Given the description of an element on the screen output the (x, y) to click on. 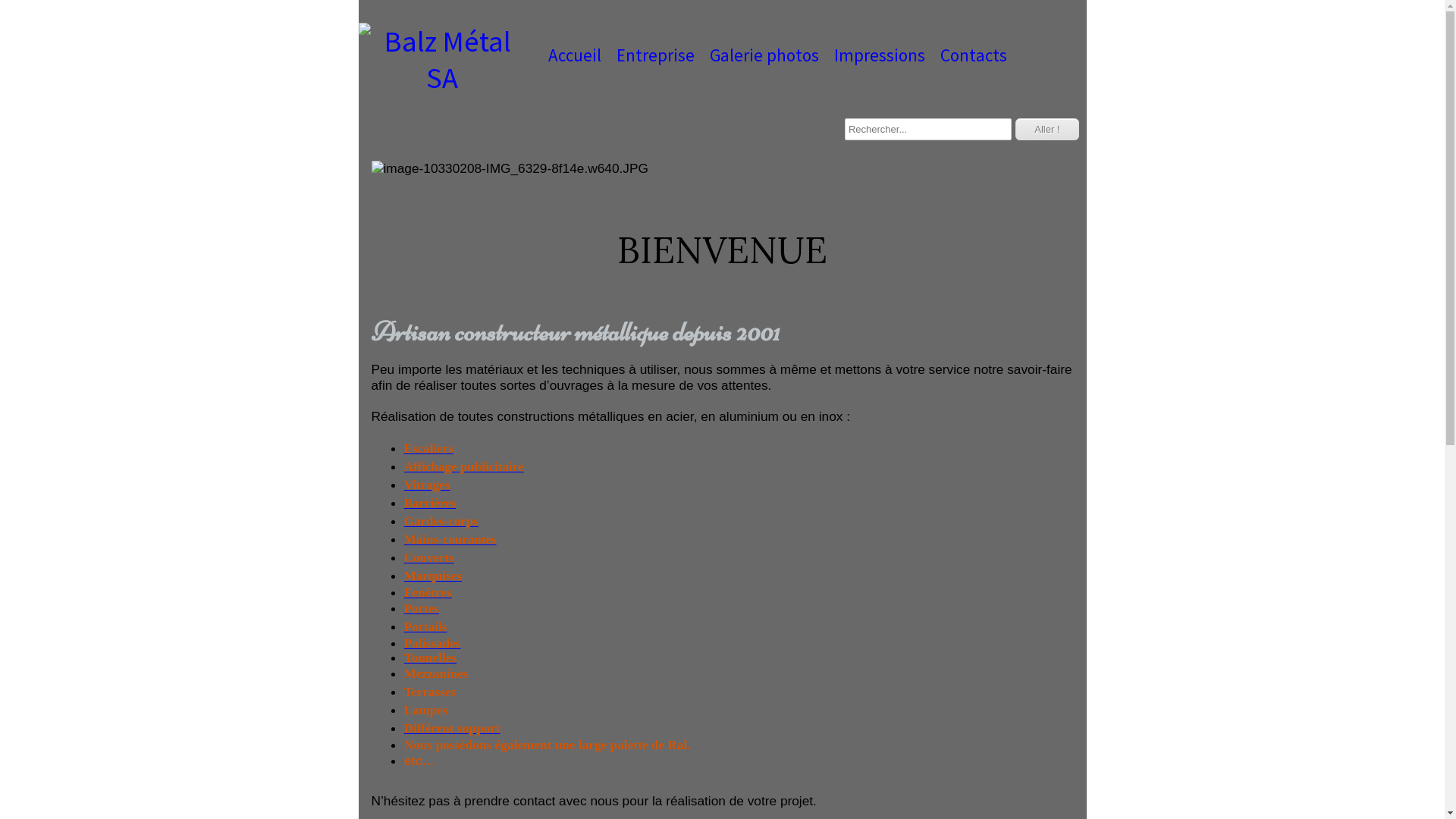
Entreprise Element type: text (654, 54)
Contacts Element type: text (973, 54)
Galerie photos Element type: text (764, 54)
Affichage publicitaire Element type: text (464, 466)
Tonnelles Element type: text (430, 657)
Impressions Element type: text (879, 54)
Marquises Element type: text (432, 575)
Portails Element type: text (425, 626)
Couverts Element type: text (429, 557)
Mains-courantes Element type: text (450, 539)
Gardes-corps Element type: text (441, 521)
Portes Element type: text (421, 608)
Palissades Element type: text (432, 642)
Vitrages Element type: text (427, 484)
Escaliers Element type: text (428, 448)
Accueil Element type: text (573, 54)
